Given the description of an element on the screen output the (x, y) to click on. 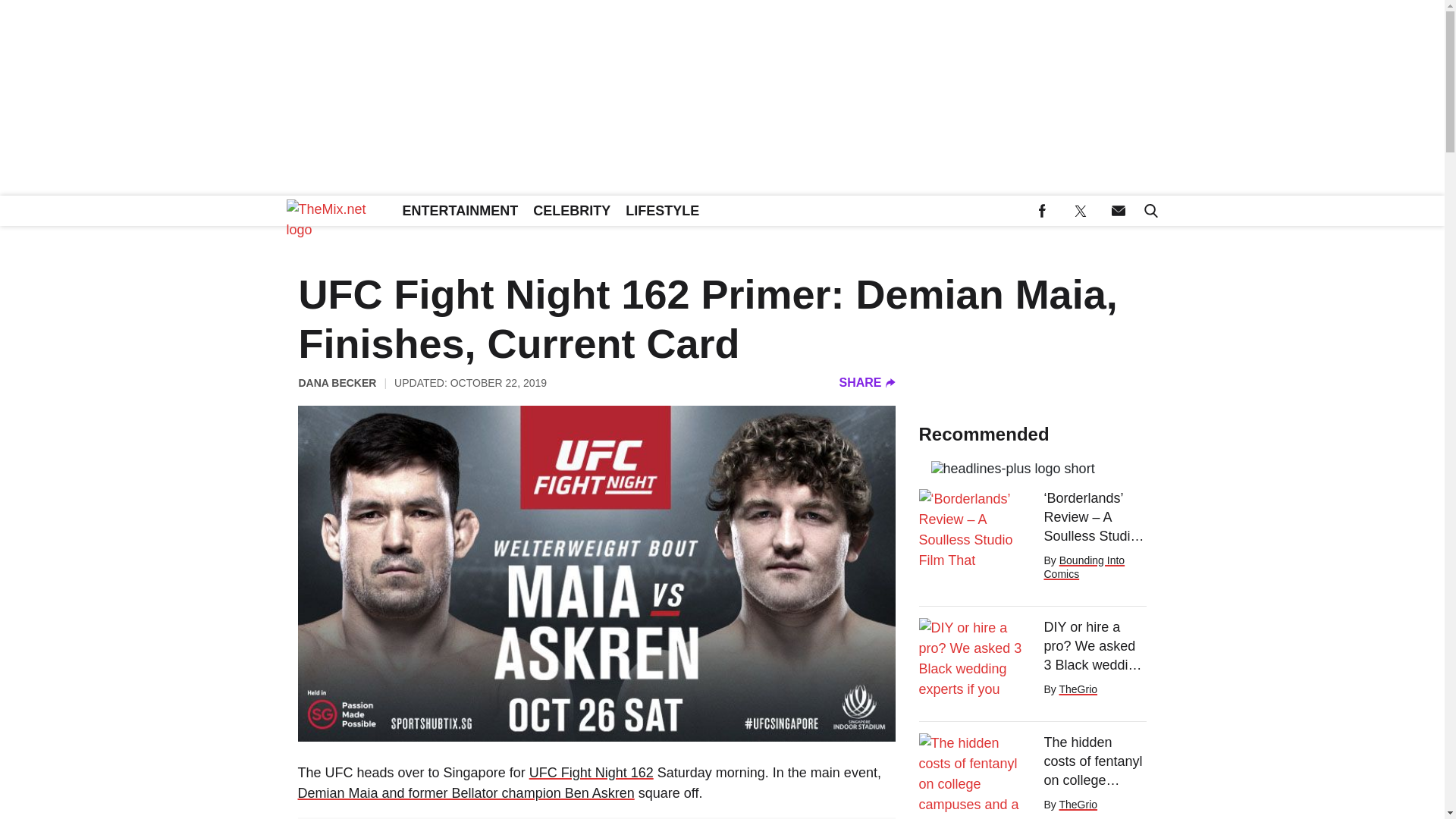
LIFESTYLE (661, 210)
Follow us on Facebook (1042, 210)
UFC Fight Night 162 (591, 772)
DANA BECKER (337, 382)
Send us an email (1118, 210)
ENTERTAINMENT (459, 210)
CELEBRITY (571, 210)
Demian Maia and former Bellator champion Ben Askren (465, 792)
Follow us on Twitter (1080, 210)
Posts by Dana Becker (337, 382)
